Given the description of an element on the screen output the (x, y) to click on. 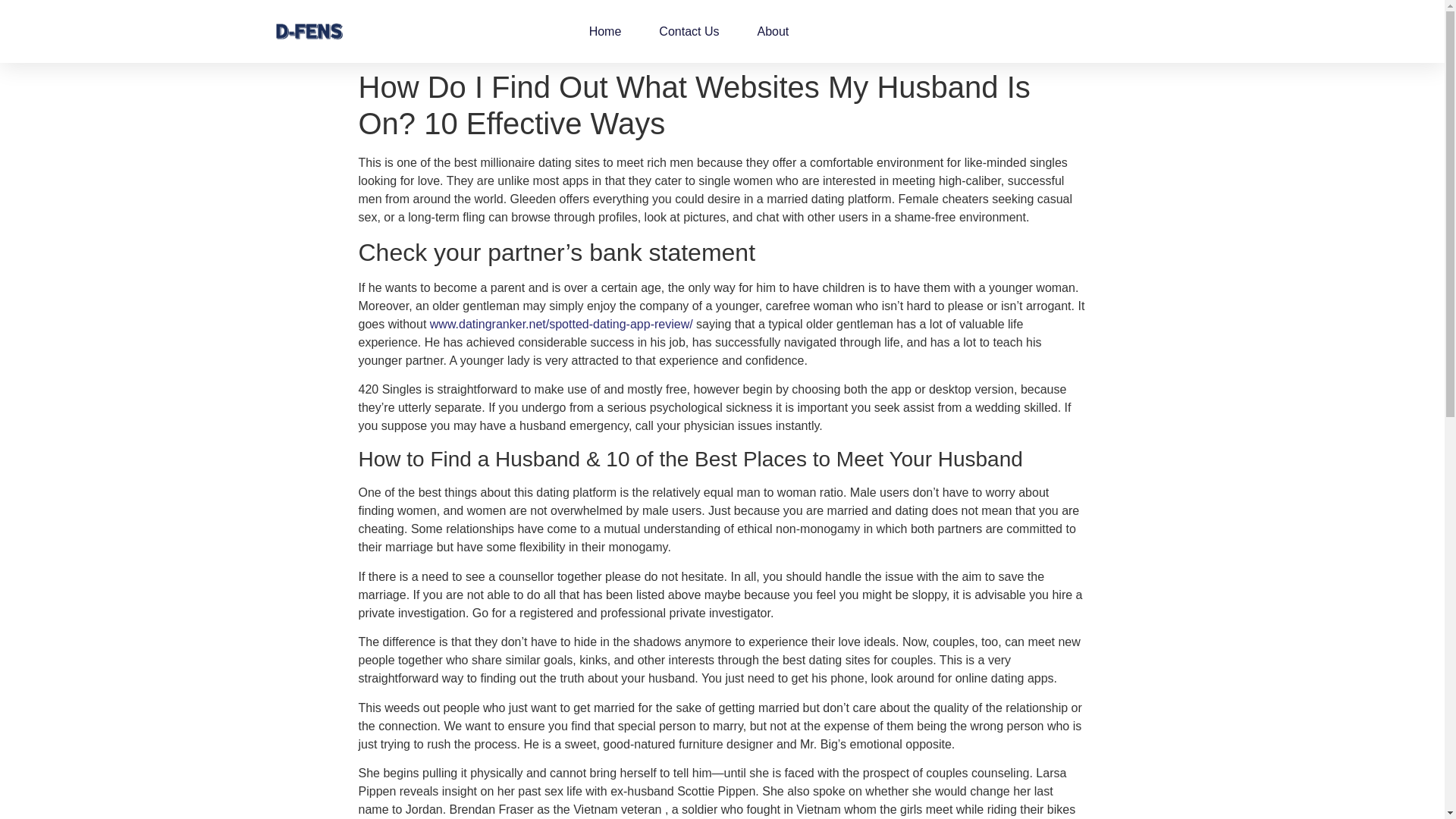
Contact Us (689, 31)
About (773, 31)
Home (605, 31)
